Given the description of an element on the screen output the (x, y) to click on. 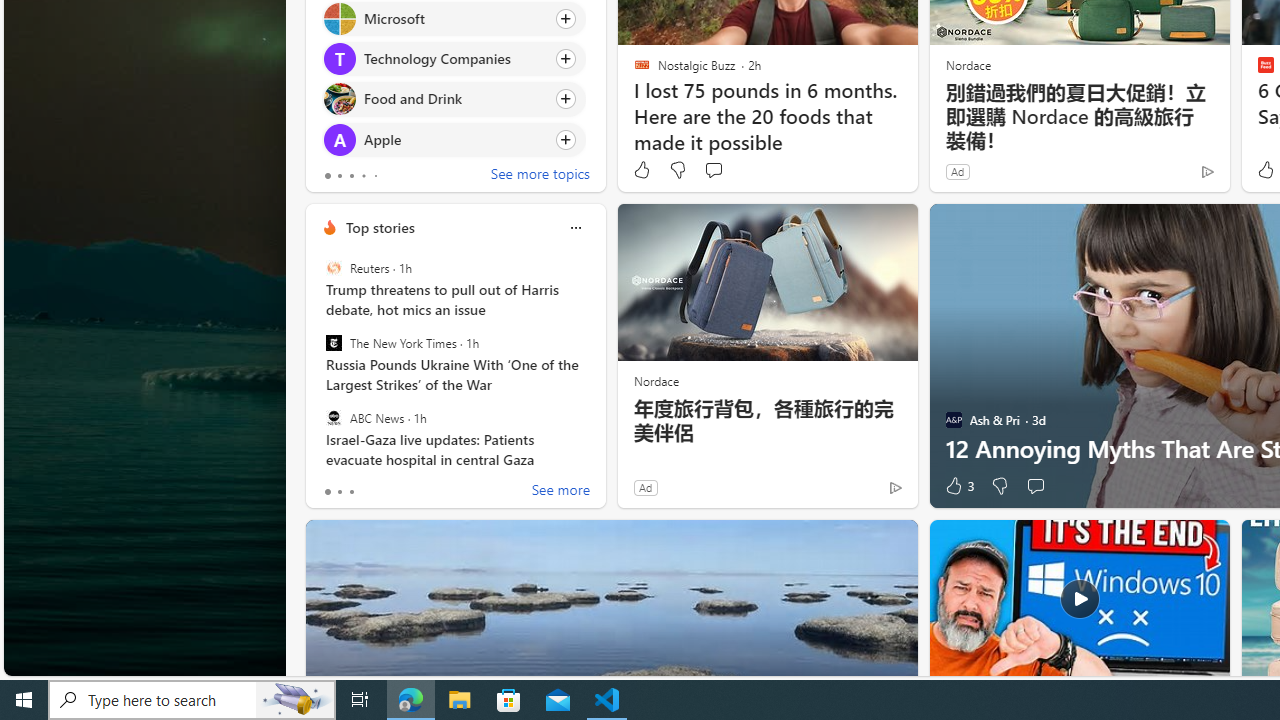
Class: icon-img (575, 228)
